Given the description of an element on the screen output the (x, y) to click on. 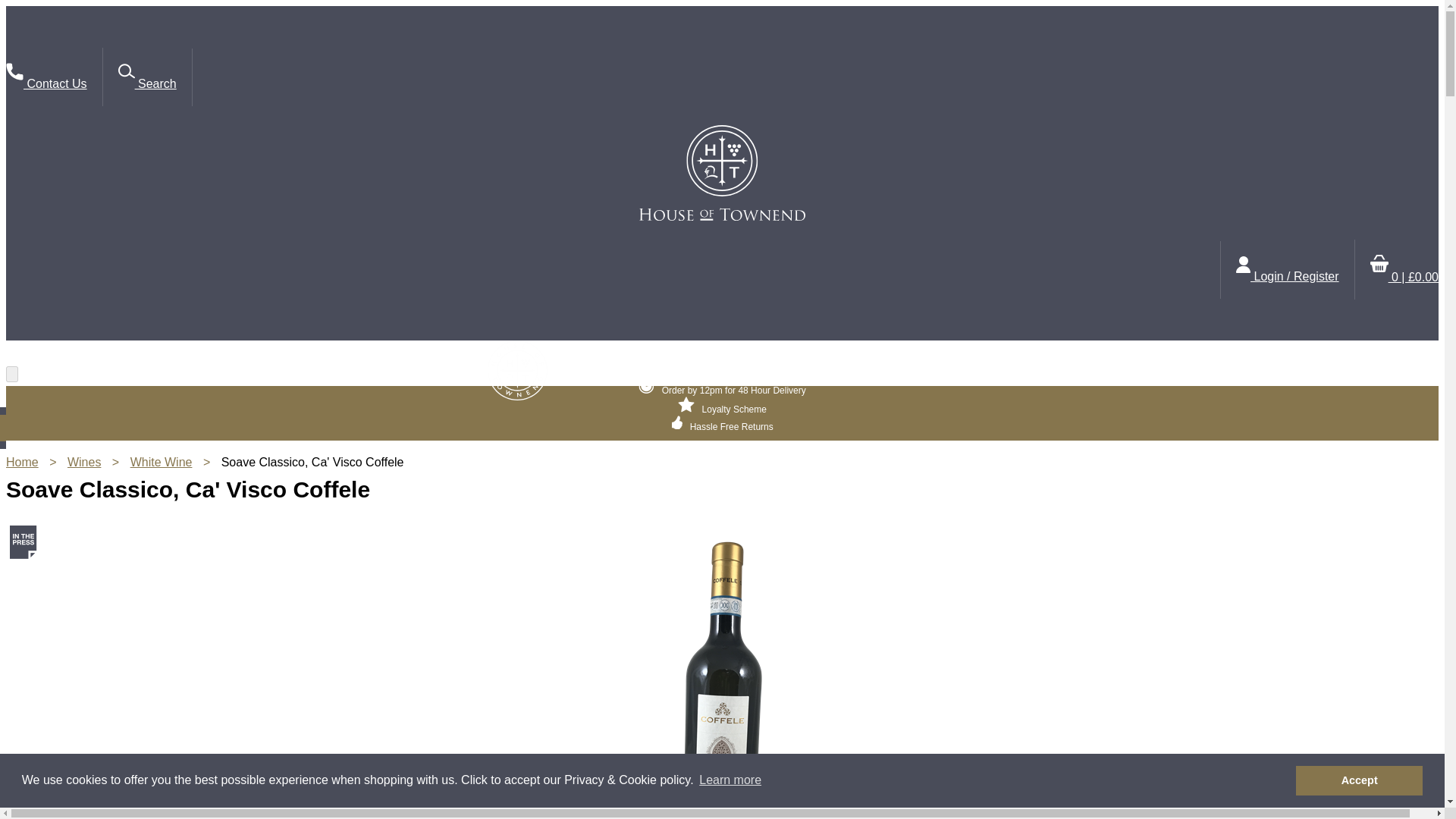
Learn more (729, 780)
Search (146, 76)
In The Press (23, 541)
Contact Us (46, 76)
Accept (1358, 780)
